Given the description of an element on the screen output the (x, y) to click on. 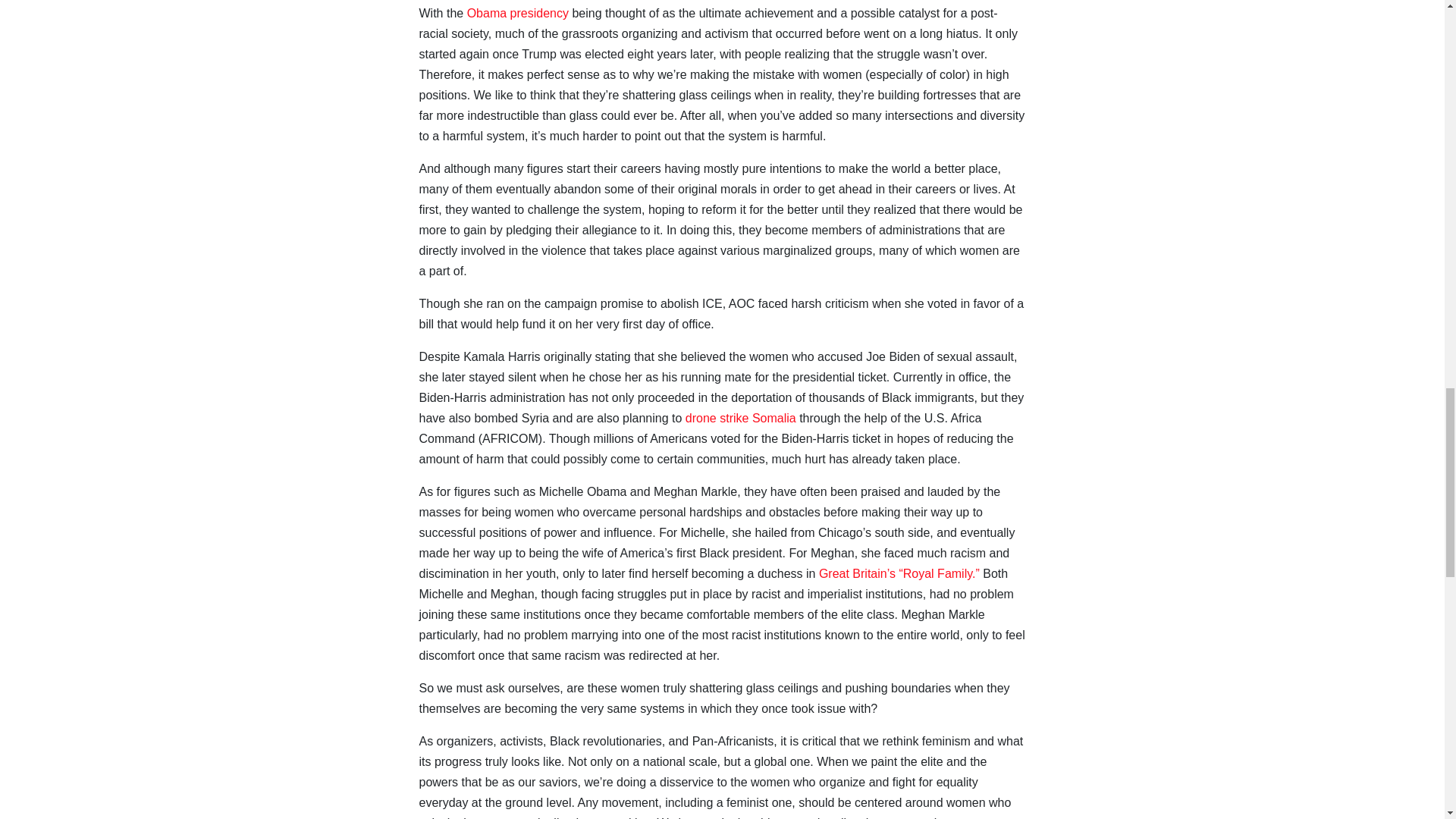
drone strike Somalia (740, 418)
Obama presidency (518, 12)
